Given the description of an element on the screen output the (x, y) to click on. 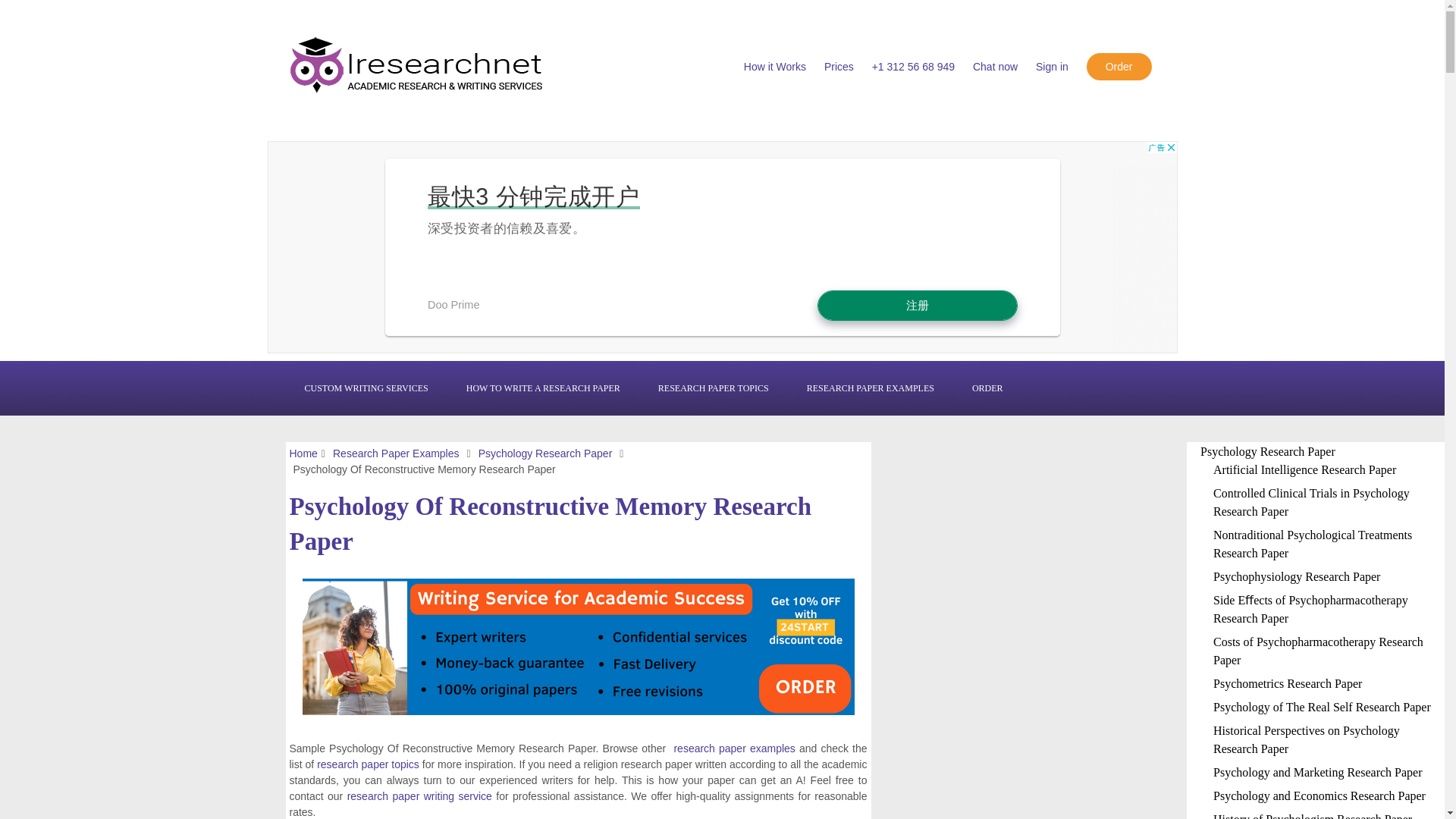
Psychophysiology Research Paper (1296, 576)
Psychology and Marketing Research Paper (1317, 771)
CUSTOM WRITING SERVICES (365, 388)
Psychology Research Paper (1267, 451)
Costs of Psychopharmacotherapy Research Paper (1317, 650)
Psychology and Marketing Research Paper (1317, 771)
How it Works (775, 66)
Artificial Intelligence Research Paper (1304, 469)
Costs of Psychopharmacotherapy Research Paper (1317, 650)
Order (1118, 66)
Artificial Intelligence Research Paper (1304, 469)
Research Paper Examples (396, 453)
Historical Perspectives on Psychology Research Paper (1305, 739)
research paper writing service (419, 796)
Chat now (994, 66)
